Given the description of an element on the screen output the (x, y) to click on. 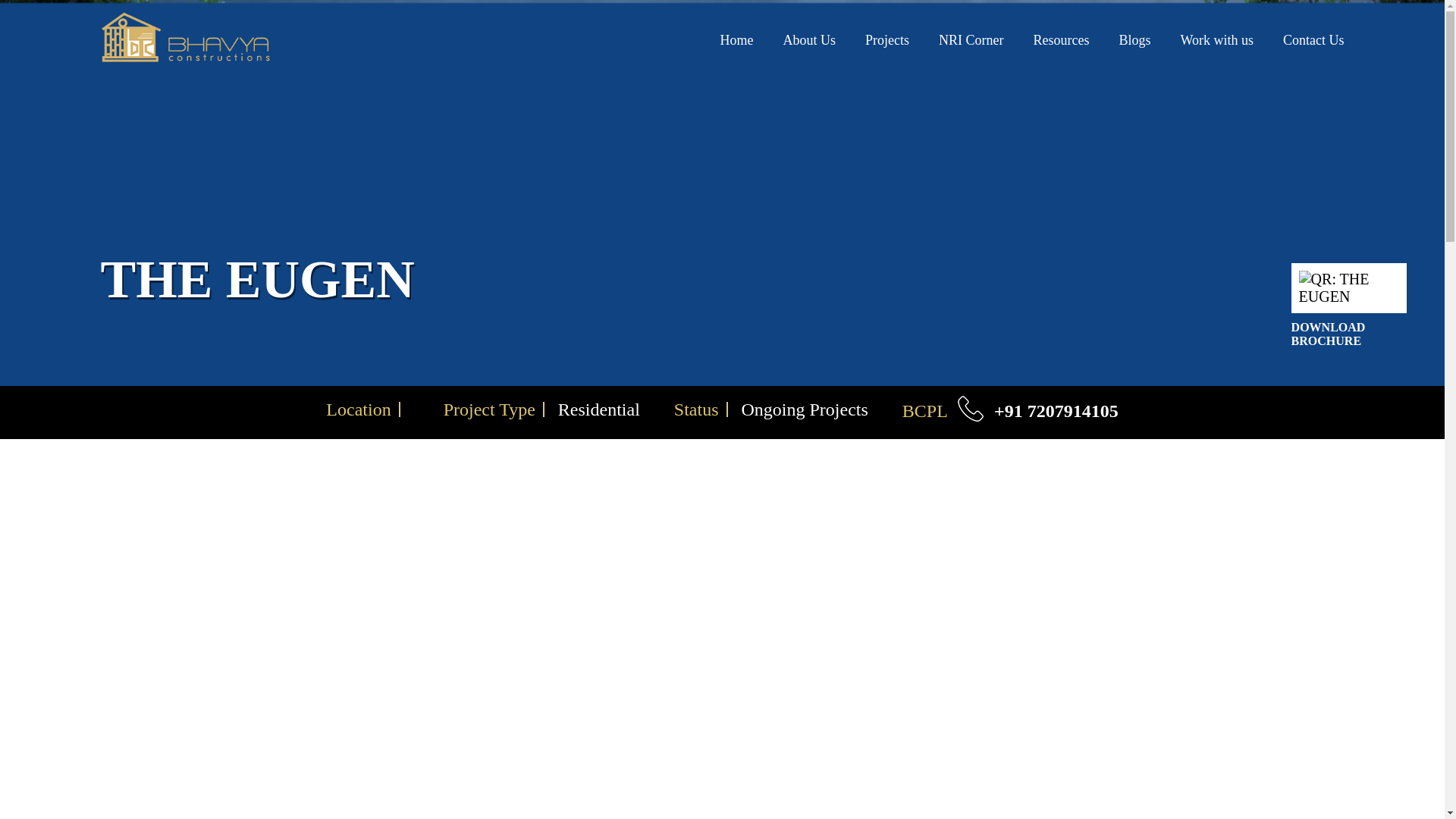
Projects (886, 39)
Resources (1060, 39)
NRI Corner (971, 39)
Work with us (1216, 39)
About Us (809, 39)
Contact Us (1312, 39)
Blogs (1134, 39)
Home (735, 39)
